Given the description of an element on the screen output the (x, y) to click on. 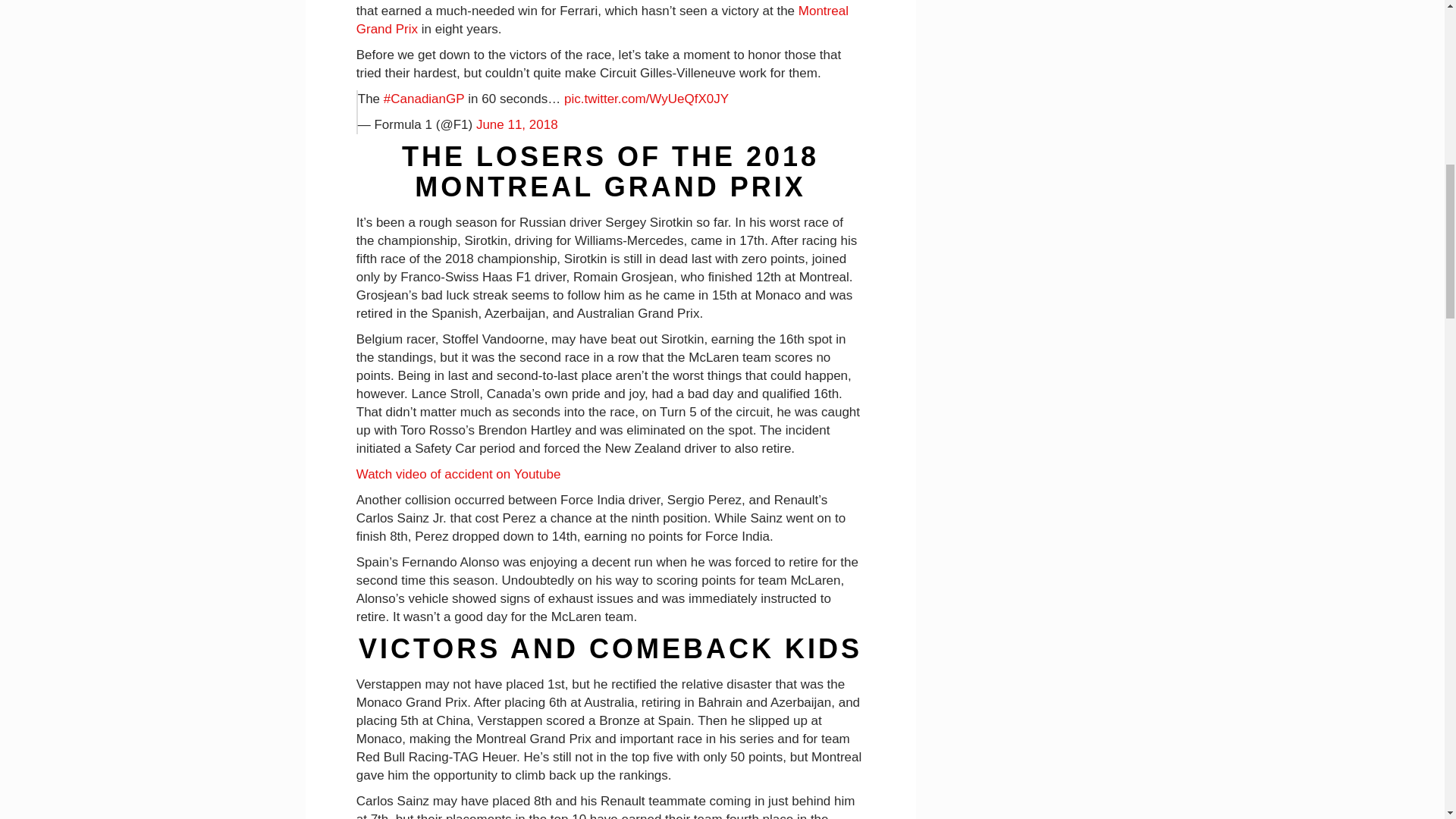
Montreal Grand Prix (602, 20)
June 11, 2018 (516, 124)
Watch video of accident on Youtube (458, 473)
